Given the description of an element on the screen output the (x, y) to click on. 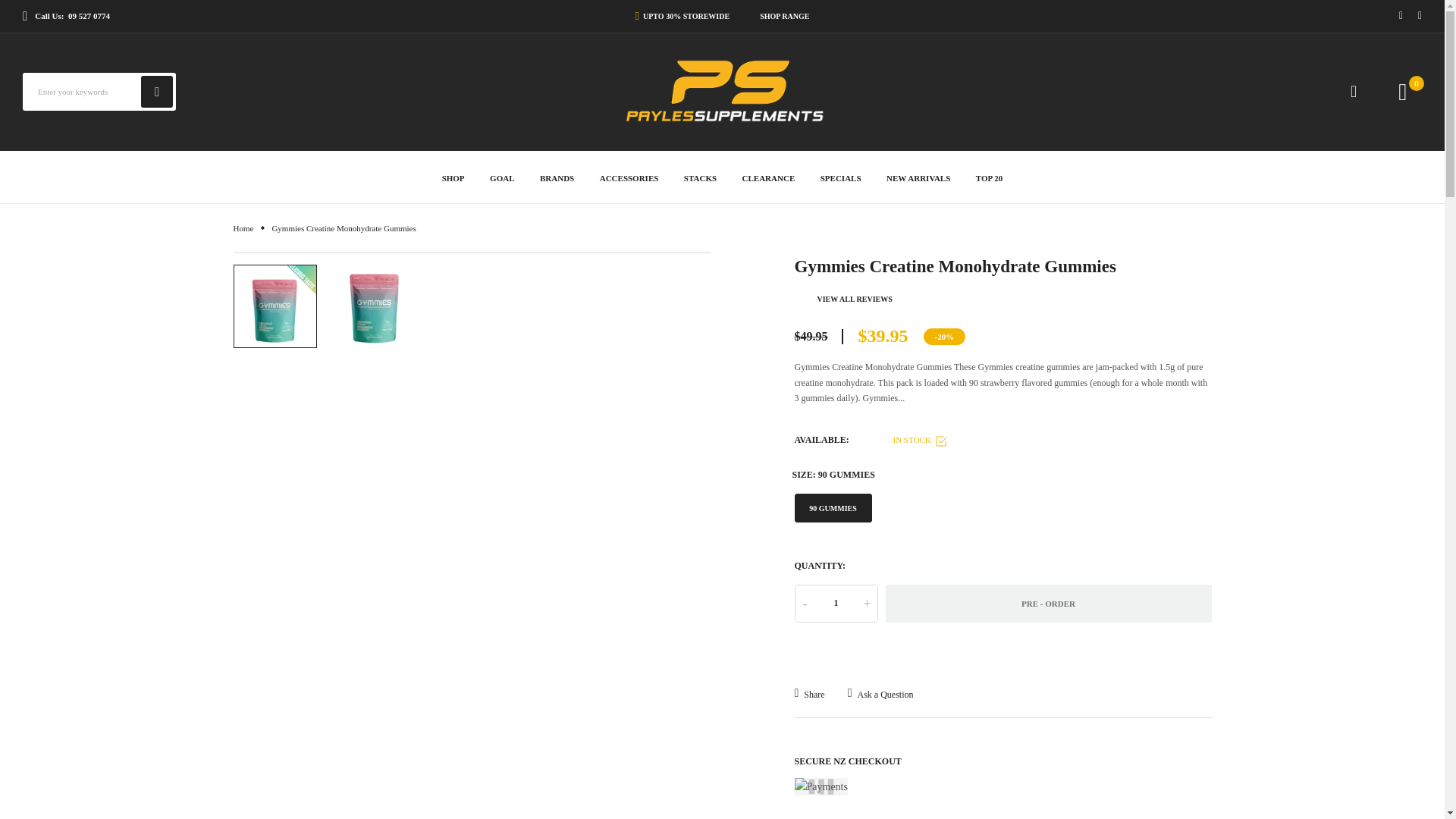
Account (1354, 91)
Cart (1416, 83)
New Arrivals (918, 176)
SHOP RANGE (781, 15)
Search (157, 91)
1 (835, 603)
Clearance (768, 176)
Accessories (629, 176)
